Given the description of an element on the screen output the (x, y) to click on. 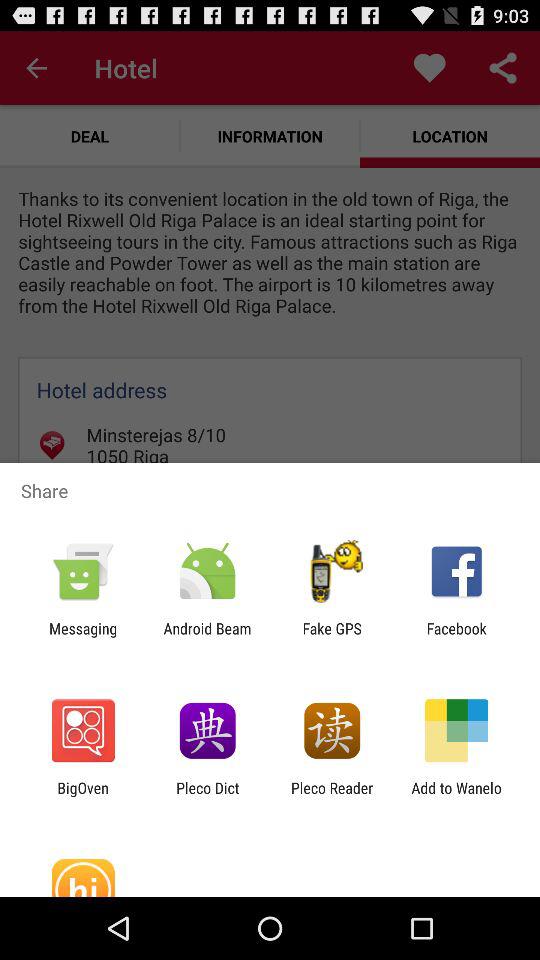
select messaging app (83, 637)
